Given the description of an element on the screen output the (x, y) to click on. 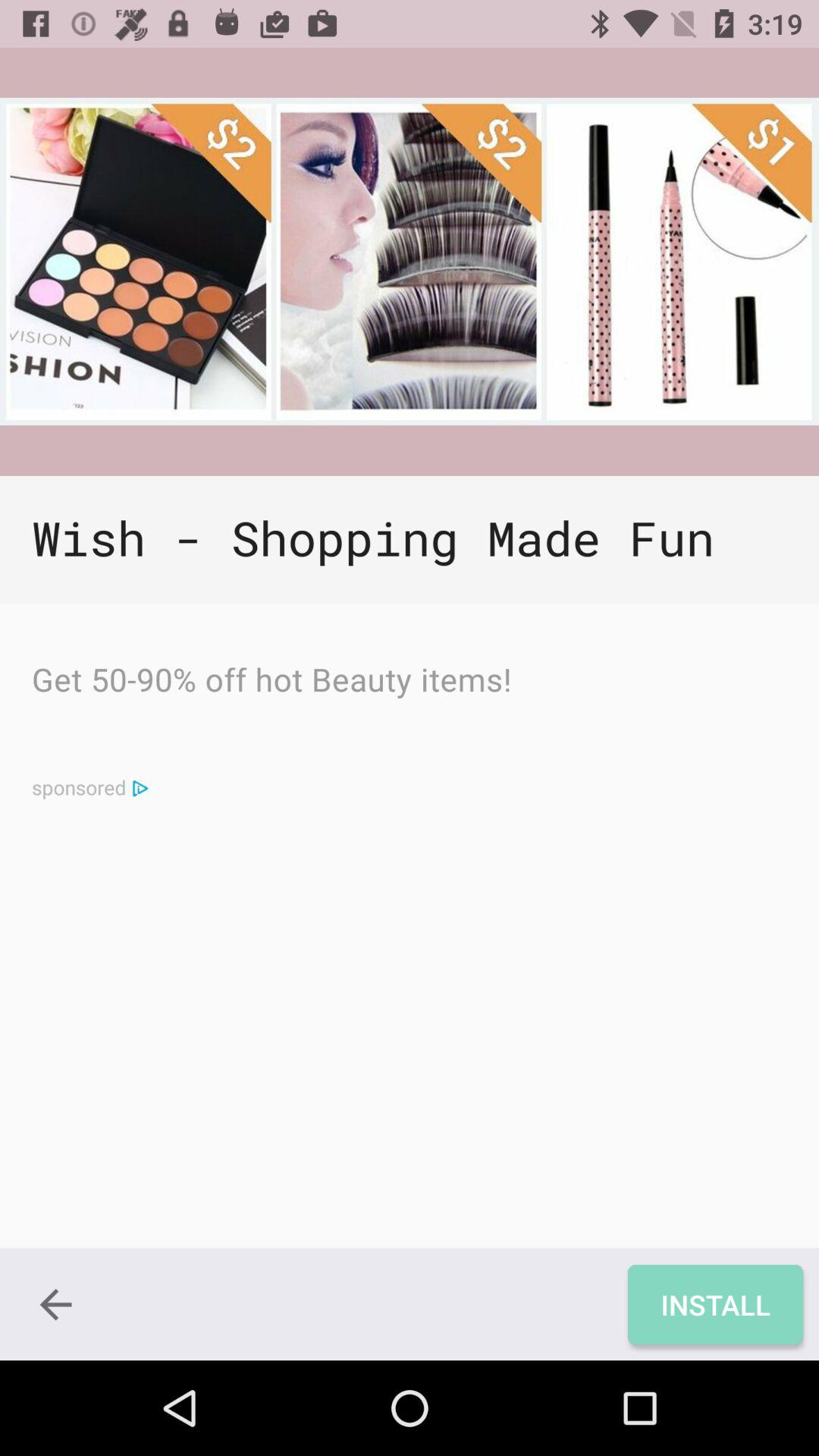
choose the icon below the wish shopping made icon (715, 1304)
